Given the description of an element on the screen output the (x, y) to click on. 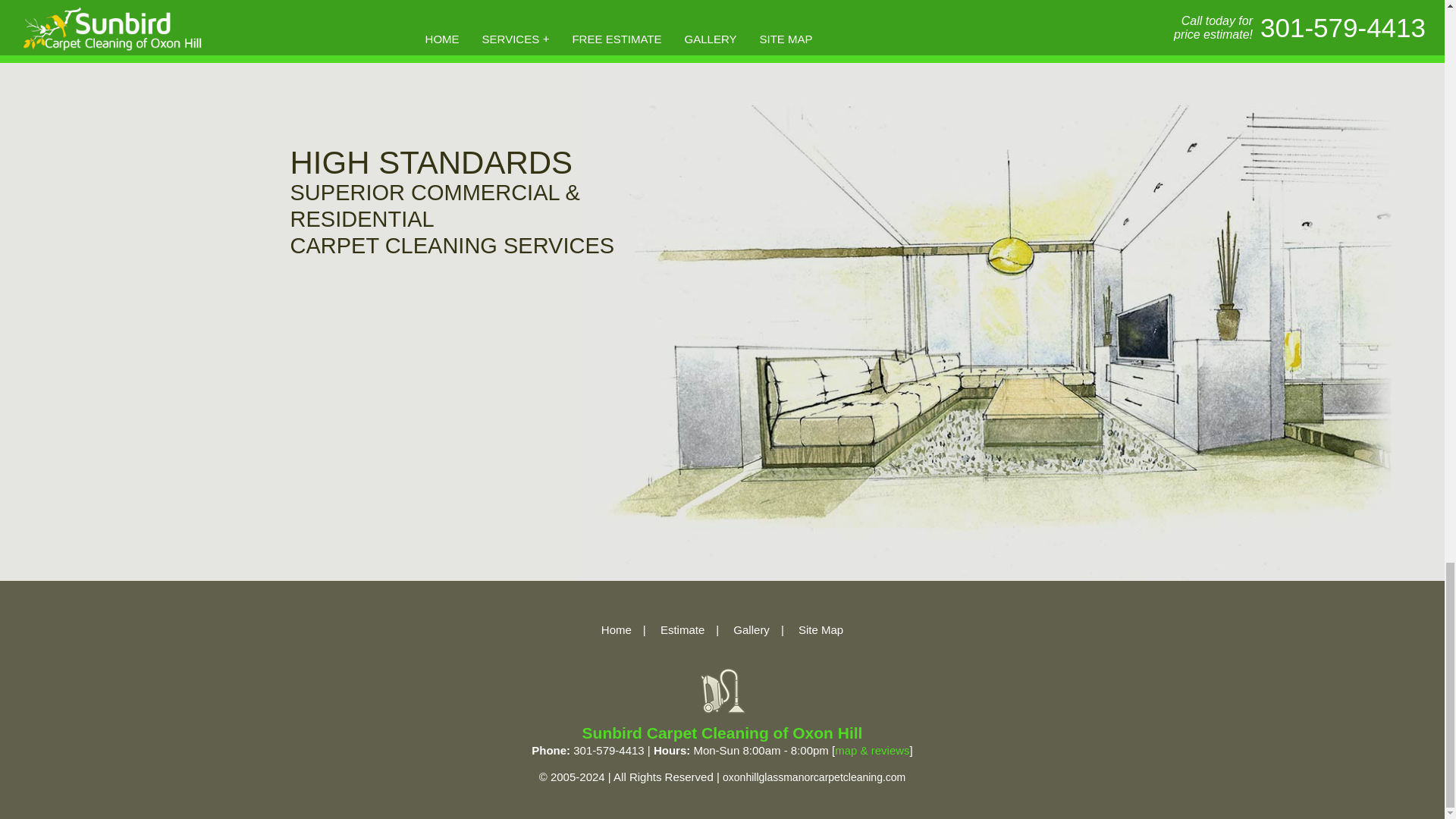
Site Map (820, 630)
Estimate (682, 630)
Home (616, 630)
Gallery (751, 630)
oxonhillglassmanorcarpetcleaning.com (722, 690)
